Given the description of an element on the screen output the (x, y) to click on. 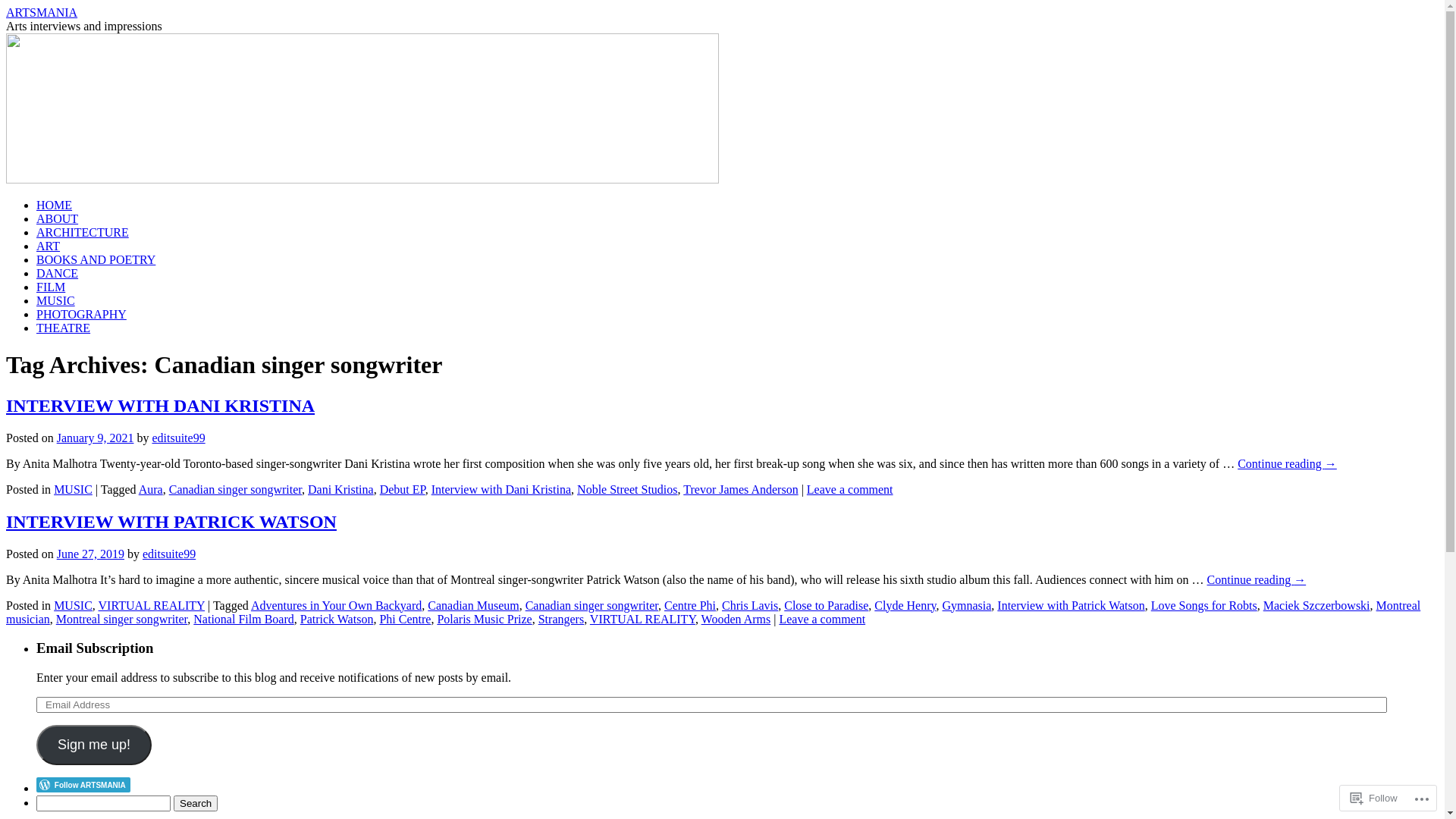
ARTSMANIA Element type: hover (362, 178)
Debut EP Element type: text (402, 489)
Close to Paradise Element type: text (826, 605)
Love Songs for Robts Element type: text (1204, 605)
Phi Centre Element type: text (404, 618)
Montreal musician Element type: text (713, 612)
DANCE Element type: text (57, 272)
MUSIC Element type: text (72, 605)
Centre Phi Element type: text (689, 605)
Sign me up! Element type: text (93, 744)
Aura Element type: text (150, 489)
Clyde Henry Element type: text (904, 605)
INTERVIEW WITH DANI KRISTINA Element type: text (160, 405)
Gymnasia Element type: text (966, 605)
Interview with Patrick Watson Element type: text (1070, 605)
Canadian Museum Element type: text (472, 605)
Dani Kristina Element type: text (340, 489)
Follow Element type: text (1373, 797)
THEATRE Element type: text (63, 327)
Leave a comment Element type: text (821, 618)
editsuite99 Element type: text (177, 437)
PHOTOGRAPHY Element type: text (81, 313)
Noble Street Studios Element type: text (627, 489)
VIRTUAL REALITY Element type: text (151, 605)
Adventures in Your Own Backyard Element type: text (336, 605)
ABOUT Element type: text (57, 218)
Follow Button Element type: hover (737, 784)
MUSIC Element type: text (55, 300)
ARTSMANIA Element type: text (41, 12)
Canadian singer songwriter Element type: text (591, 605)
Wooden Arms Element type: text (736, 618)
editsuite99 Element type: text (168, 553)
Polaris Music Prize Element type: text (483, 618)
Patrick Watson Element type: text (336, 618)
January 9, 2021 Element type: text (95, 437)
Leave a comment Element type: text (849, 489)
HOME Element type: text (54, 204)
Montreal singer songwriter Element type: text (122, 618)
ARCHITECTURE Element type: text (82, 231)
INTERVIEW WITH PATRICK WATSON Element type: text (171, 521)
Maciek Szczerbowski Element type: text (1316, 605)
BOOKS AND POETRY Element type: text (95, 259)
FILM Element type: text (50, 286)
Interview with Dani Kristina Element type: text (501, 489)
VIRTUAL REALITY Element type: text (642, 618)
MUSIC Element type: text (72, 489)
National Film Board Element type: text (243, 618)
June 27, 2019 Element type: text (90, 553)
Search Element type: text (195, 803)
ART Element type: text (47, 245)
Canadian singer songwriter Element type: text (235, 489)
Chris Lavis Element type: text (749, 605)
Trevor James Anderson Element type: text (740, 489)
Strangers Element type: text (560, 618)
